Given the description of an element on the screen output the (x, y) to click on. 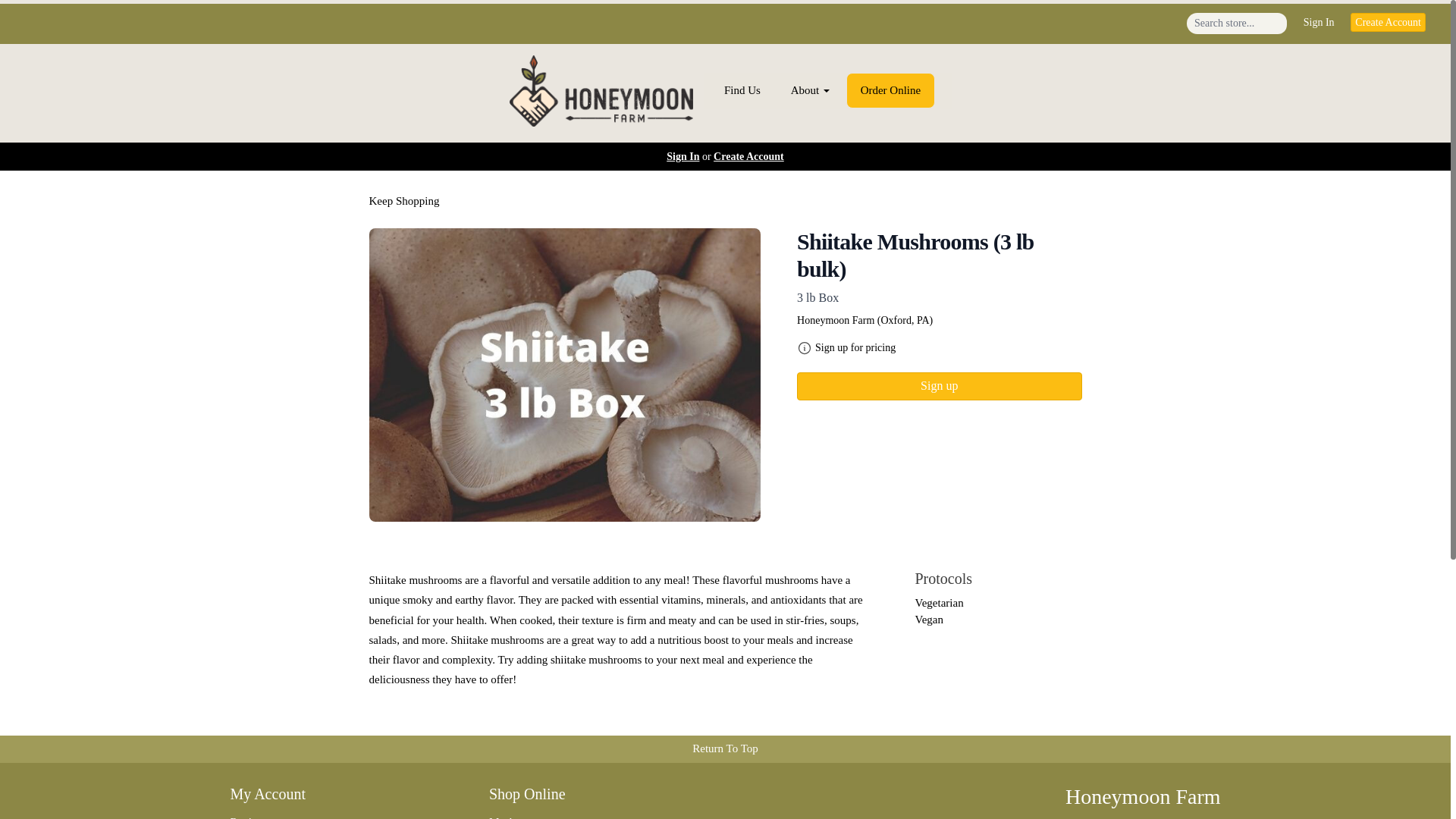
Order Online (890, 90)
Create Account (748, 156)
Vegan (928, 619)
About (810, 90)
Mushrooms (596, 814)
Sign up for pricing (855, 347)
Keep Shopping (403, 200)
Vegetarian (938, 603)
Sign In (1319, 22)
Sign up (938, 386)
Sign In (682, 156)
Create Account (1388, 22)
Return To Top (725, 748)
Register (337, 814)
Find Us (742, 90)
